Given the description of an element on the screen output the (x, y) to click on. 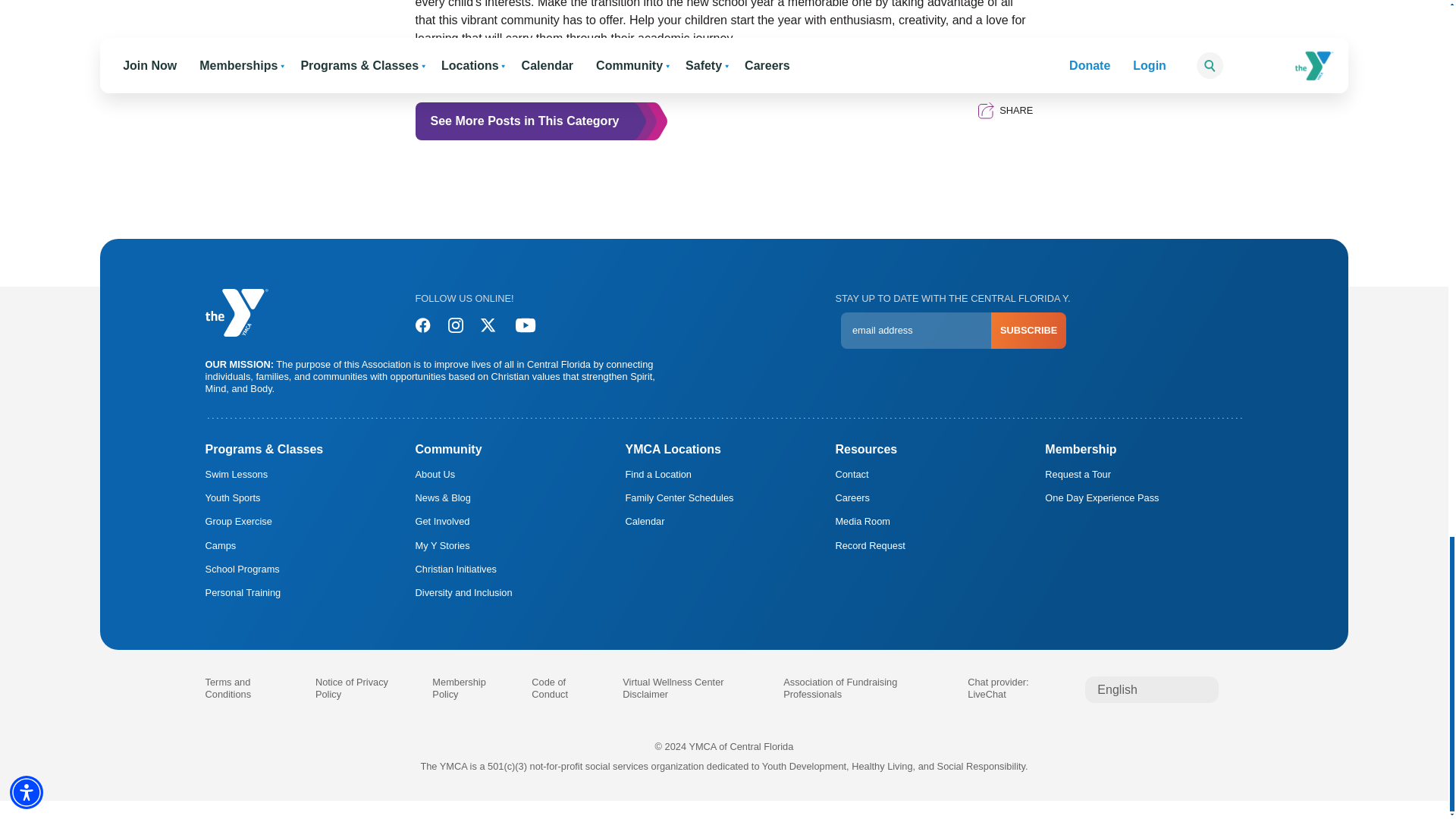
Home (236, 312)
